Given the description of an element on the screen output the (x, y) to click on. 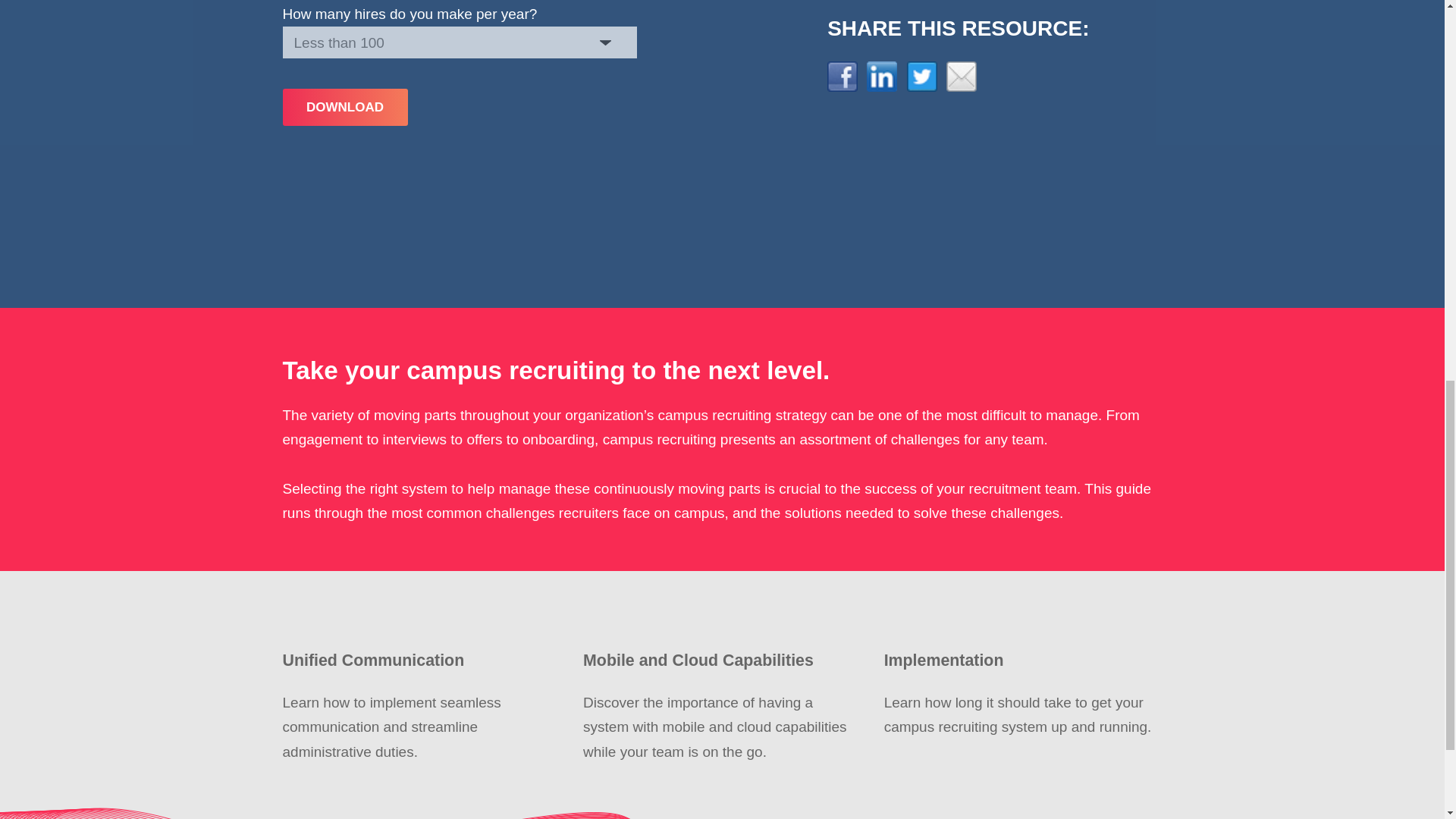
Download (344, 107)
Download (344, 107)
